Given the description of an element on the screen output the (x, y) to click on. 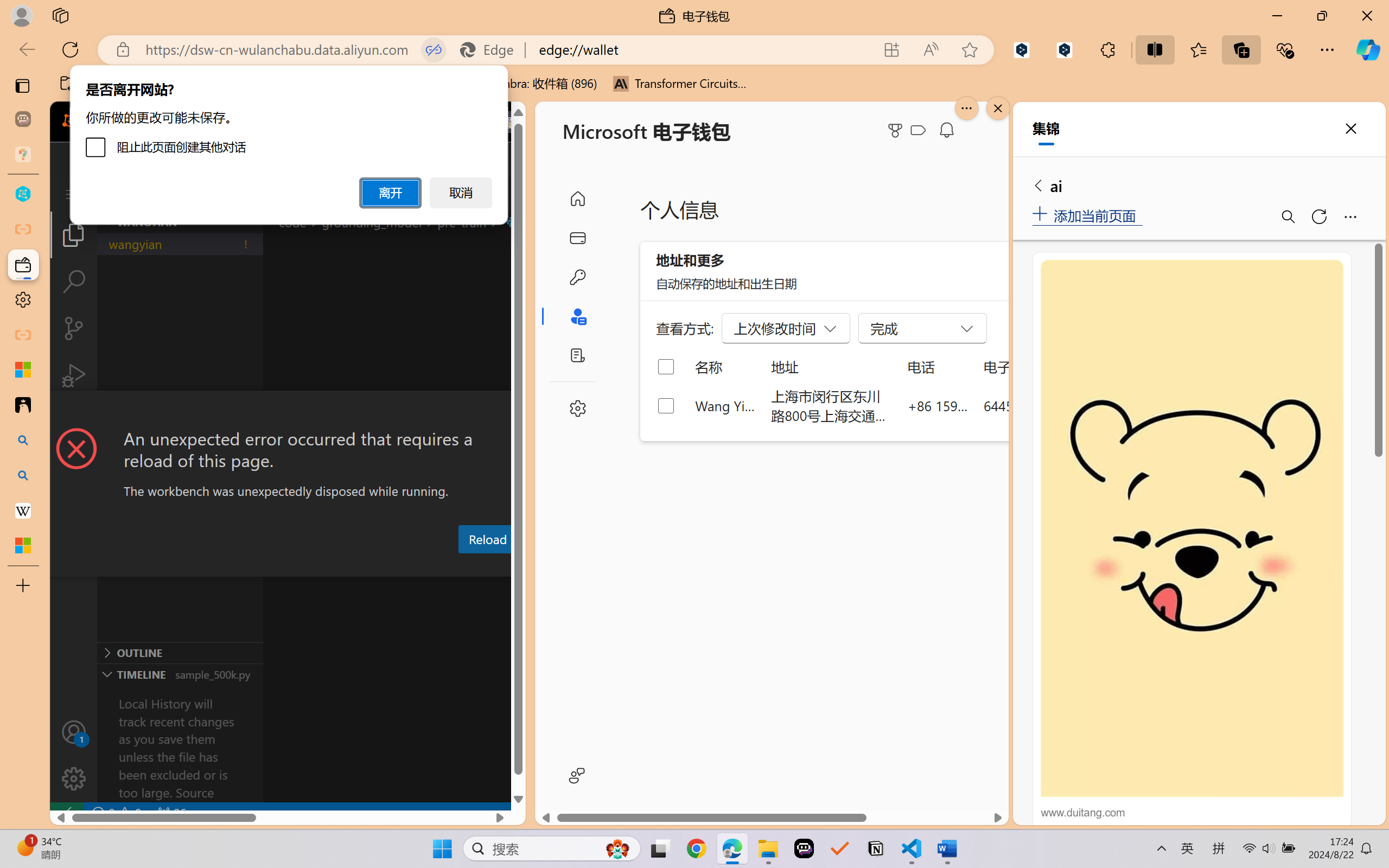
Outline Section (179, 652)
No Problems (115, 812)
